Given the description of an element on the screen output the (x, y) to click on. 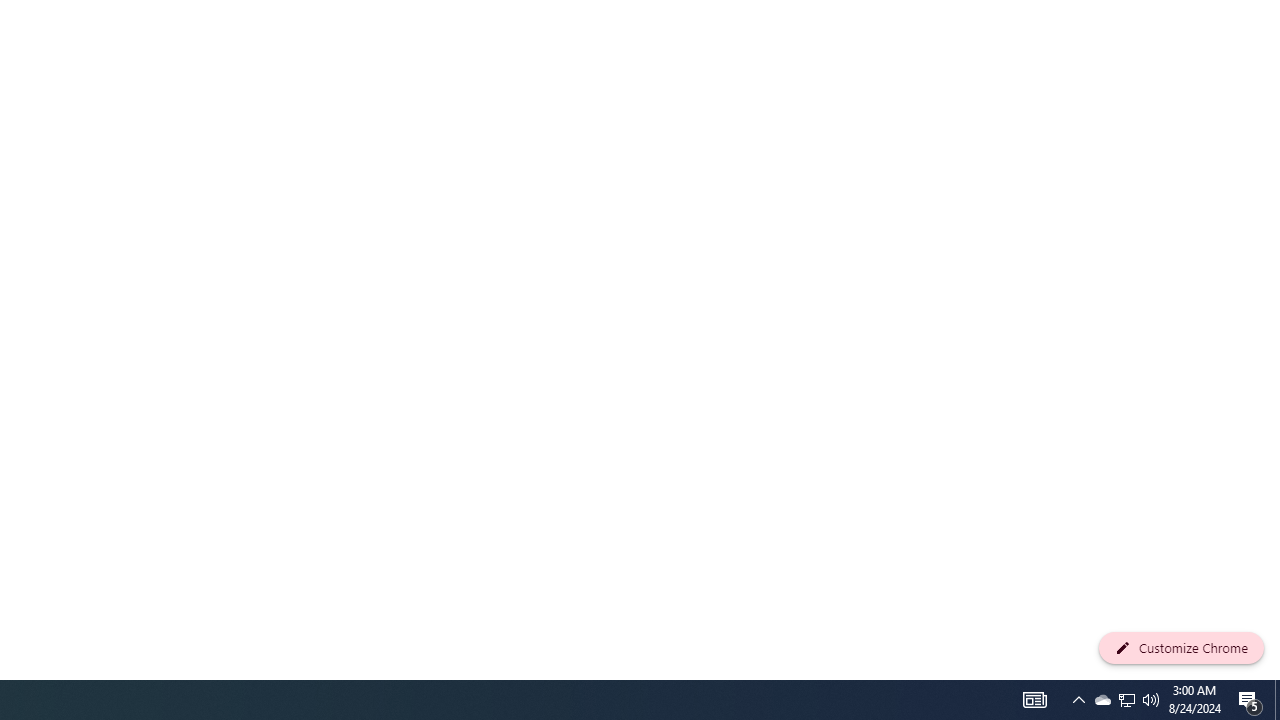
Customize Chrome (1181, 647)
